Given the description of an element on the screen output the (x, y) to click on. 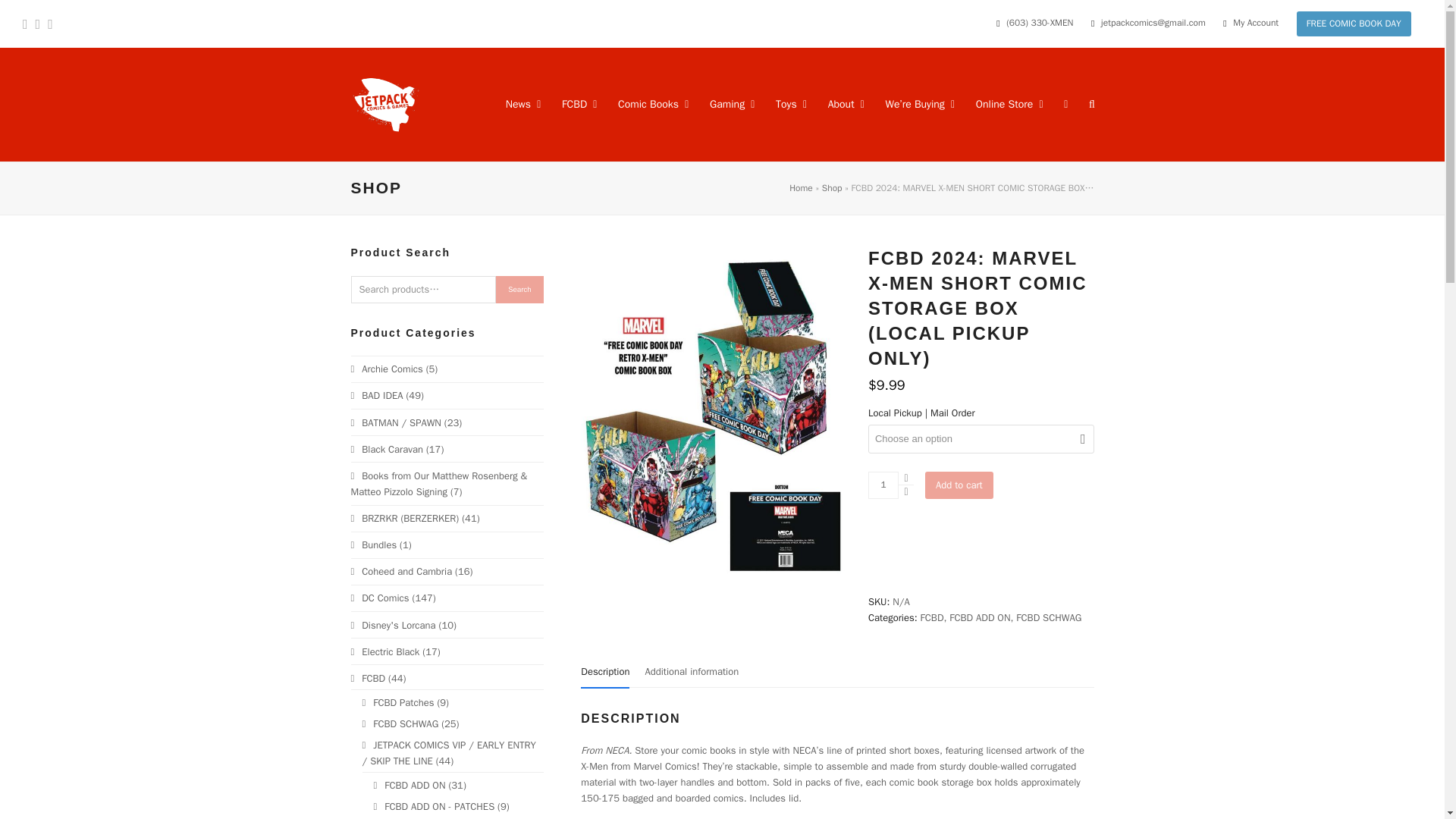
FREE COMIC BOOK DAY (1353, 23)
PayPal Message 1 (980, 534)
1 (882, 484)
My Account (1255, 23)
PayPal (980, 573)
